Given the description of an element on the screen output the (x, y) to click on. 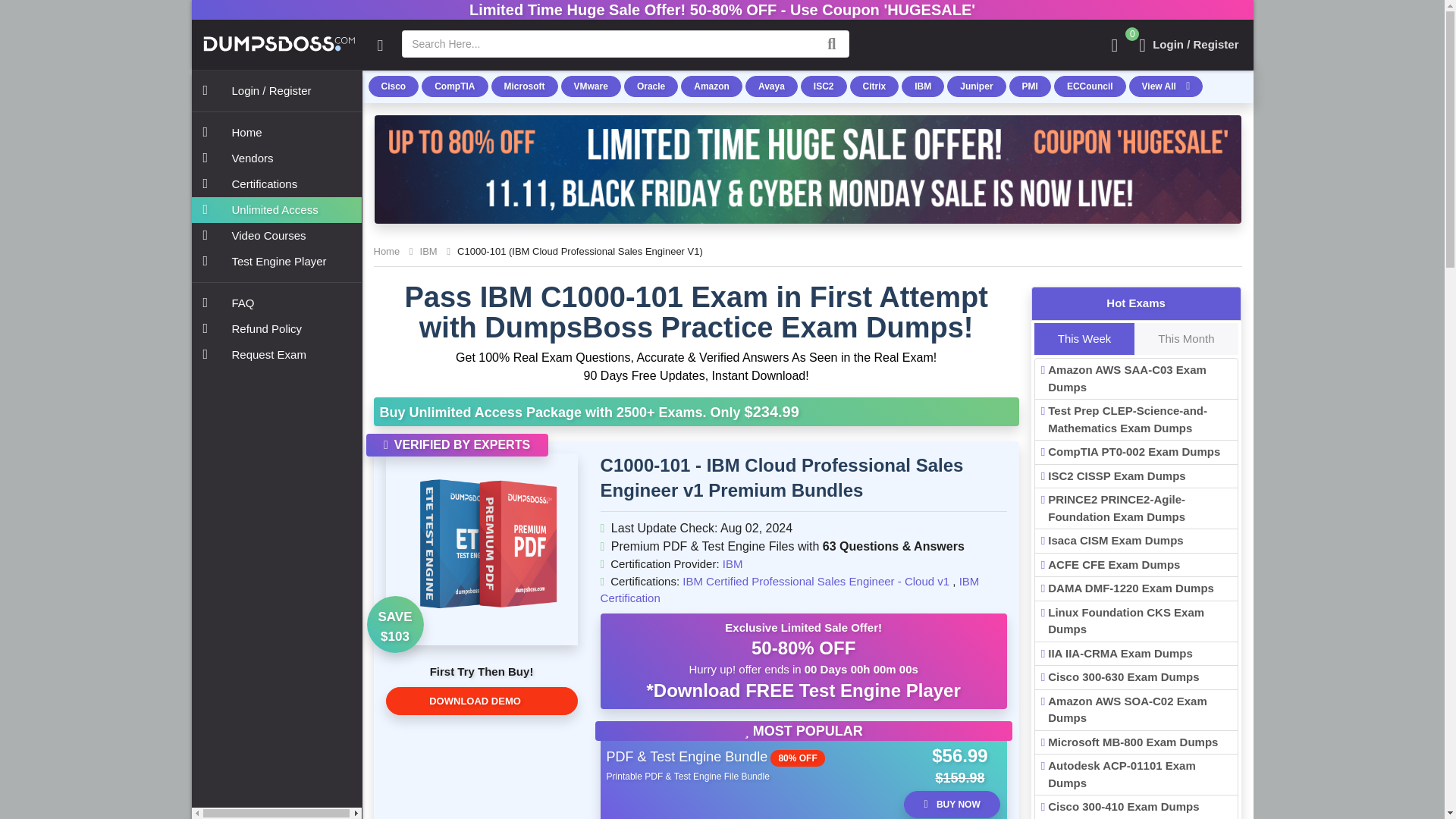
Home (385, 251)
Video Courses (275, 235)
Oracle (651, 86)
Unlimited Access (275, 209)
Request Exam (275, 354)
FAQ (275, 303)
Home (275, 132)
View All (1166, 86)
Cisco (393, 86)
PMI (1030, 86)
